Given the description of an element on the screen output the (x, y) to click on. 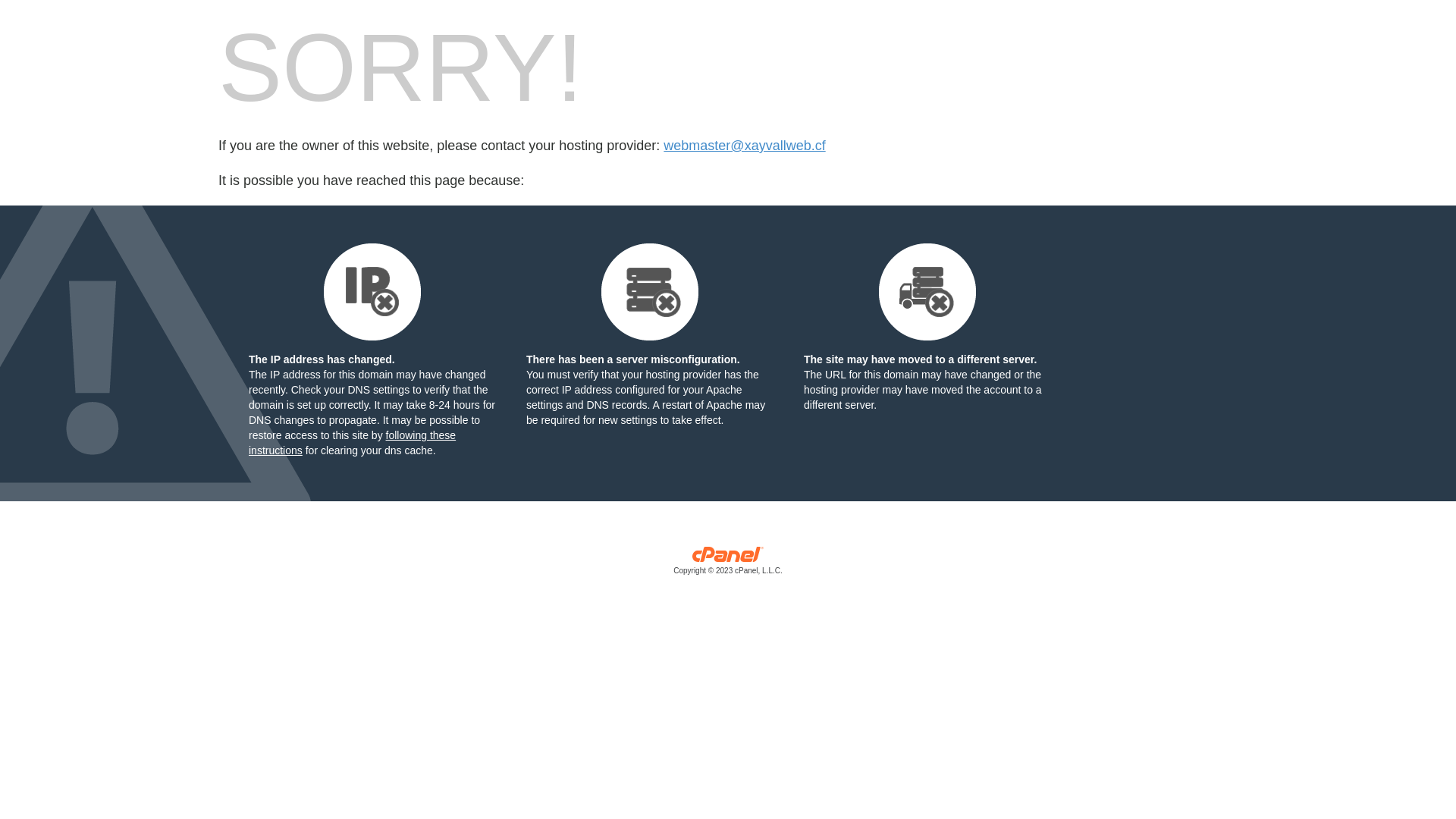
following these instructions Element type: text (351, 442)
webmaster@xayvallweb.cf Element type: text (744, 145)
